Given the description of an element on the screen output the (x, y) to click on. 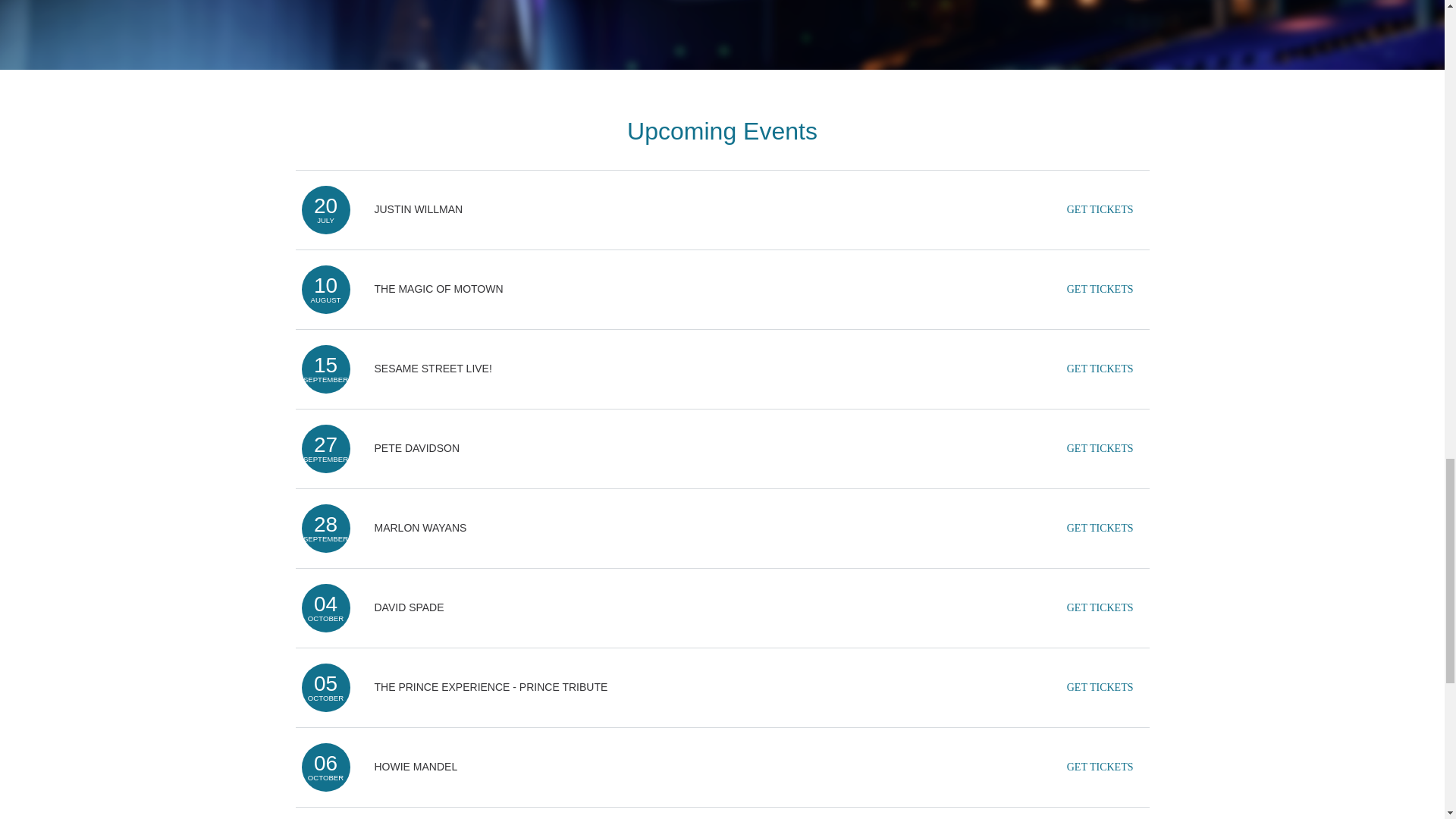
THE MAGIC OF MOTOWN (438, 288)
GET TICKETS (1099, 448)
GET TICKETS (1099, 209)
SESAME STREET LIVE! (433, 368)
GET TICKETS (1099, 528)
GET TICKETS (1099, 289)
GET TICKETS (1099, 767)
GET TICKETS (1099, 607)
GET TICKETS (1099, 369)
GET TICKETS (1099, 687)
